Given the description of an element on the screen output the (x, y) to click on. 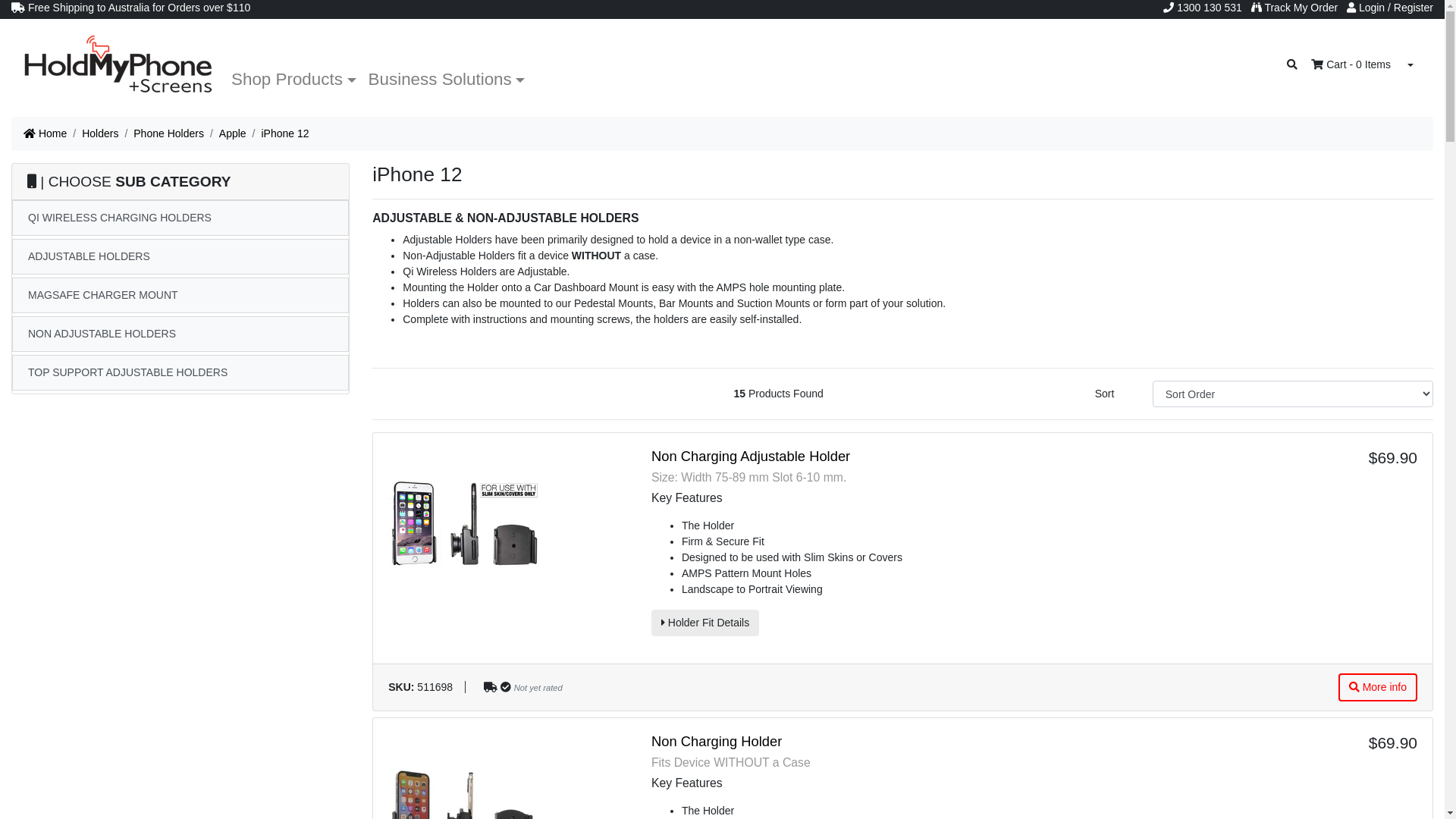
Phone Holders Element type: text (168, 133)
Shop Products Element type: text (293, 79)
Home Element type: text (44, 133)
NON ADJUSTABLE HOLDERS Element type: text (180, 333)
Track My Order Element type: text (1294, 7)
QI WIRELESS CHARGING HOLDERS Element type: text (180, 217)
Login / Register Element type: text (1389, 7)
Non Charging Holder Element type: text (716, 741)
Non Charging Adjustable Holder Element type: text (750, 456)
1300 130 531 Element type: text (1202, 7)
Neovox Pty Ltd Element type: hover (118, 64)
Holder Fit Details Element type: text (705, 622)
Holders Element type: text (99, 133)
MAGSAFE CHARGER MOUNT Element type: text (180, 295)
Toggle Dropdown Element type: text (1410, 64)
Cart - 0 Items Element type: text (1350, 64)
Business Solutions Element type: text (446, 79)
More info Element type: text (1377, 687)
Apple Element type: text (232, 133)
iPhone 12 Element type: text (284, 133)
ADJUSTABLE HOLDERS Element type: text (180, 256)
TOP SUPPORT ADJUSTABLE HOLDERS Element type: text (180, 372)
